Given the description of an element on the screen output the (x, y) to click on. 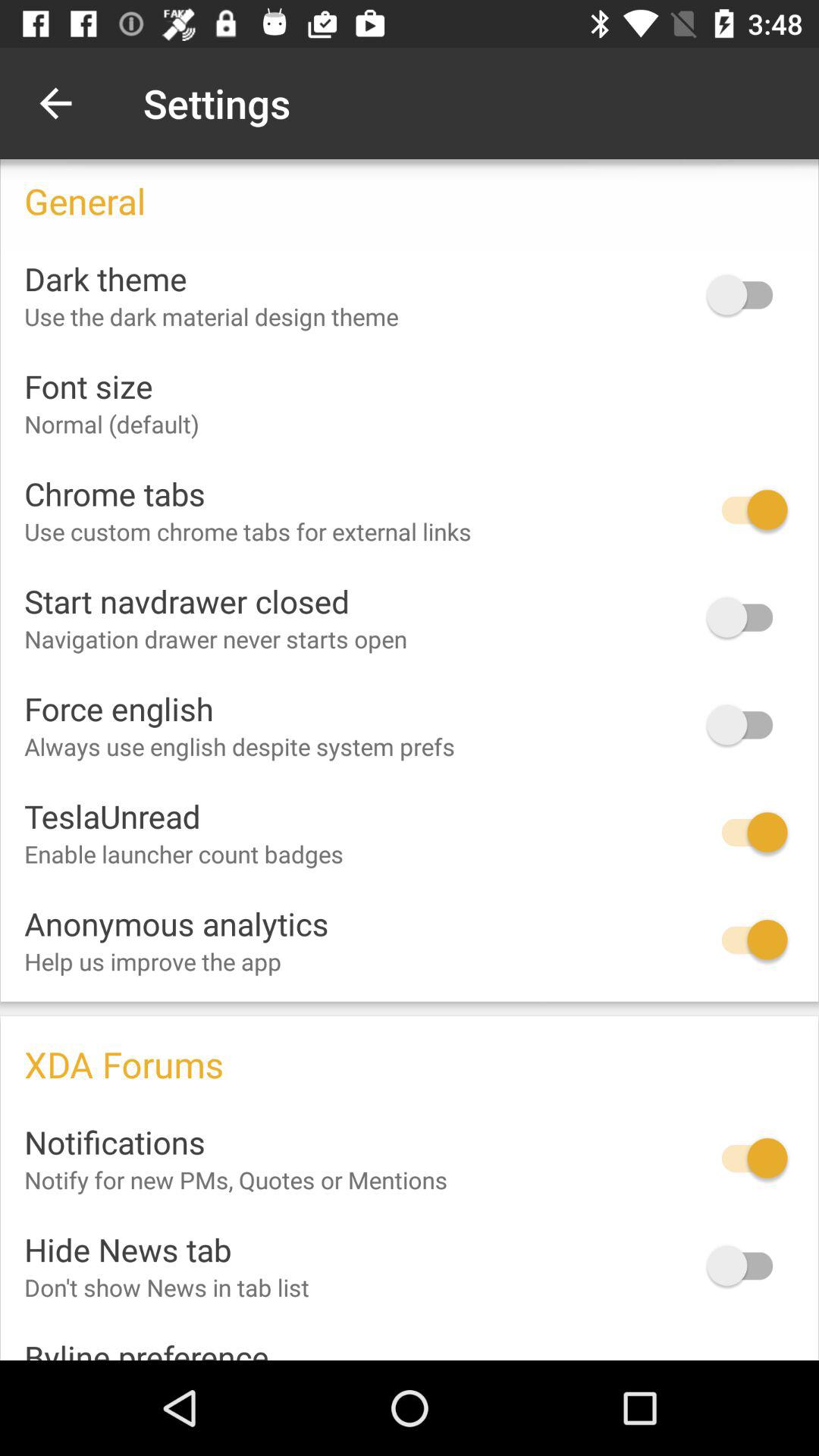
toggle notifications (747, 1158)
